Given the description of an element on the screen output the (x, y) to click on. 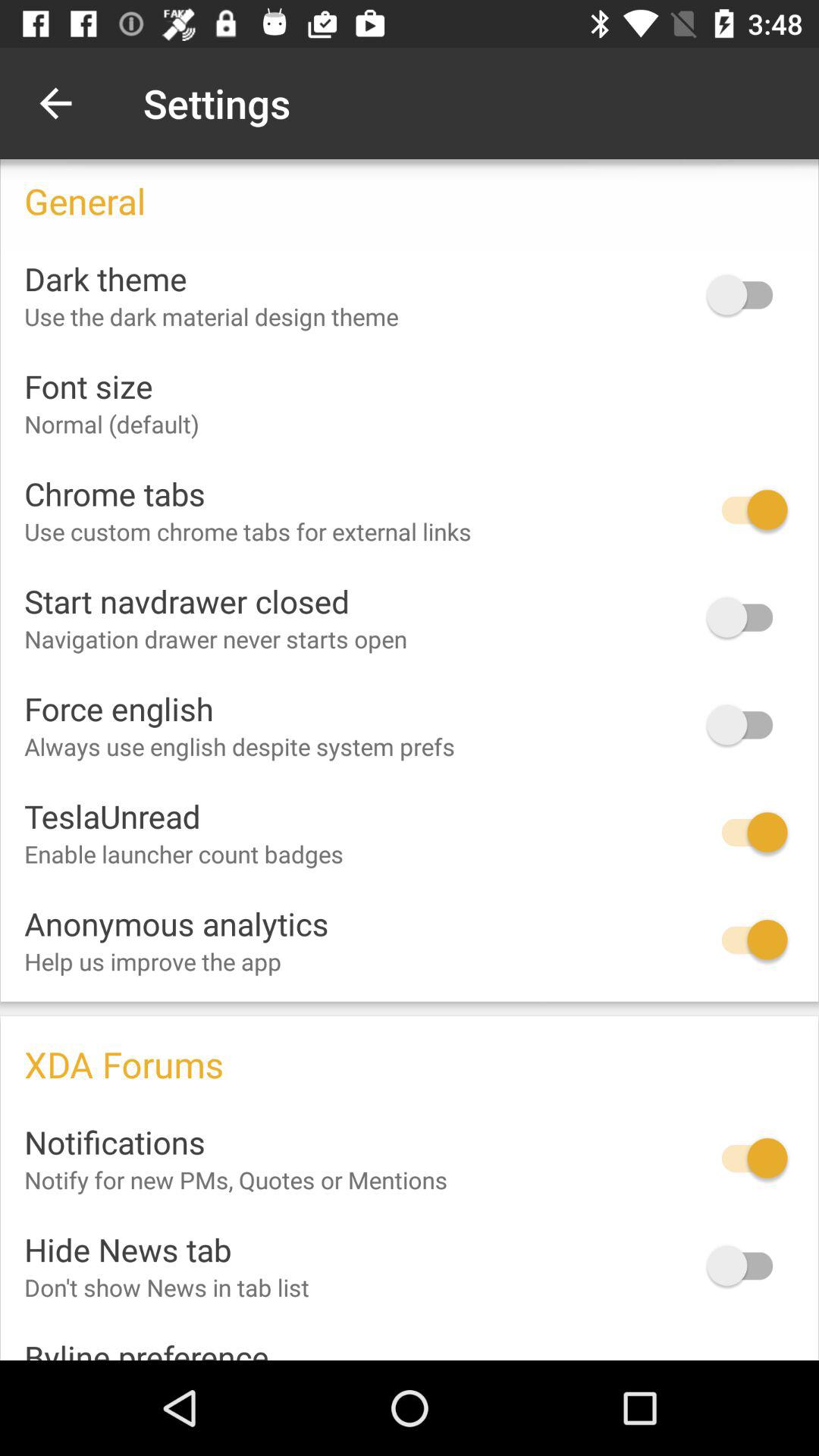
toggle notifications (747, 1158)
